Given the description of an element on the screen output the (x, y) to click on. 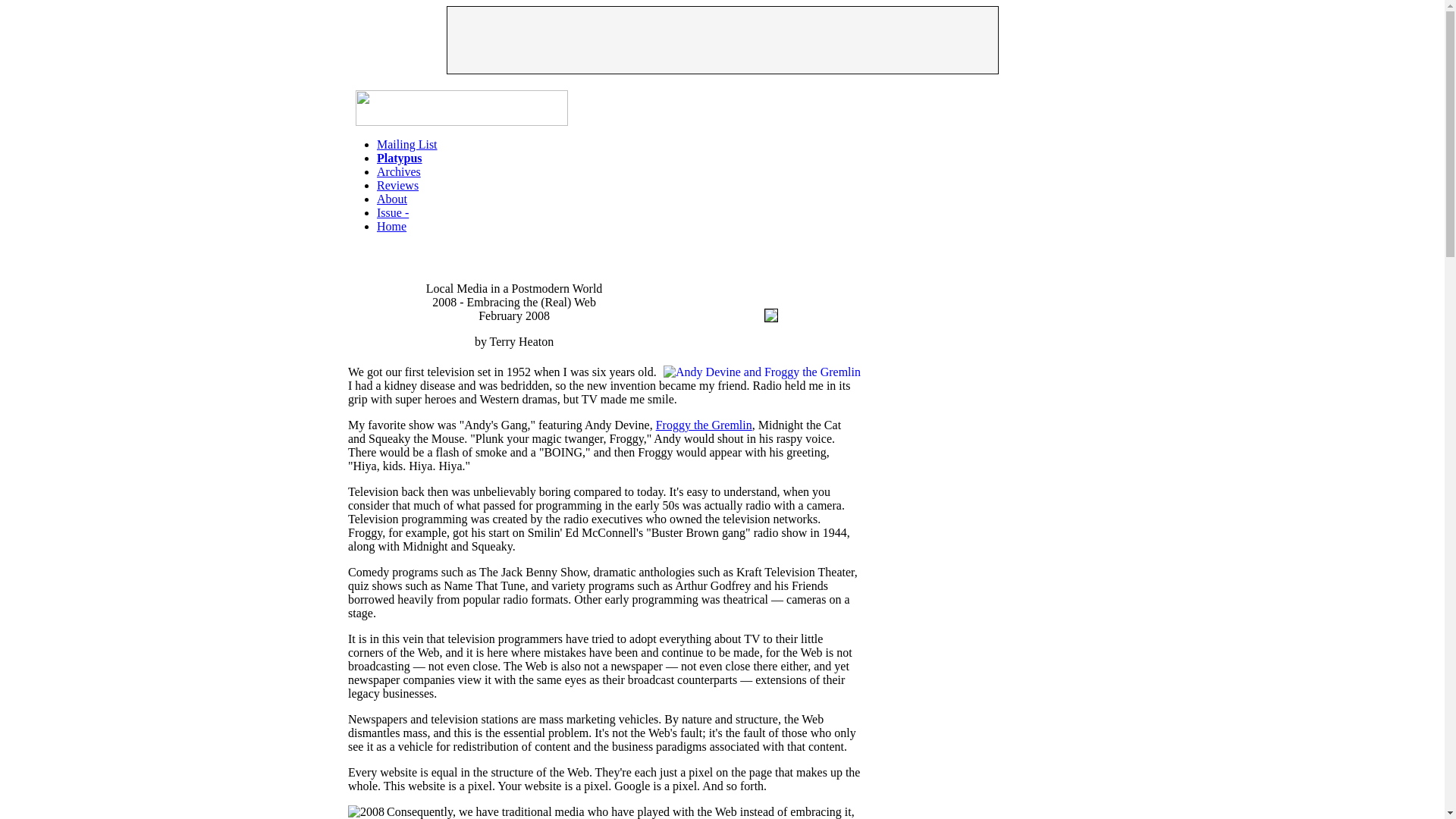
Mailing List (407, 144)
Froggy the Gremlin (704, 424)
Archives (398, 171)
Issue - (393, 212)
Platypus (399, 157)
About (392, 198)
Home (391, 226)
Reviews (398, 185)
